Given the description of an element on the screen output the (x, y) to click on. 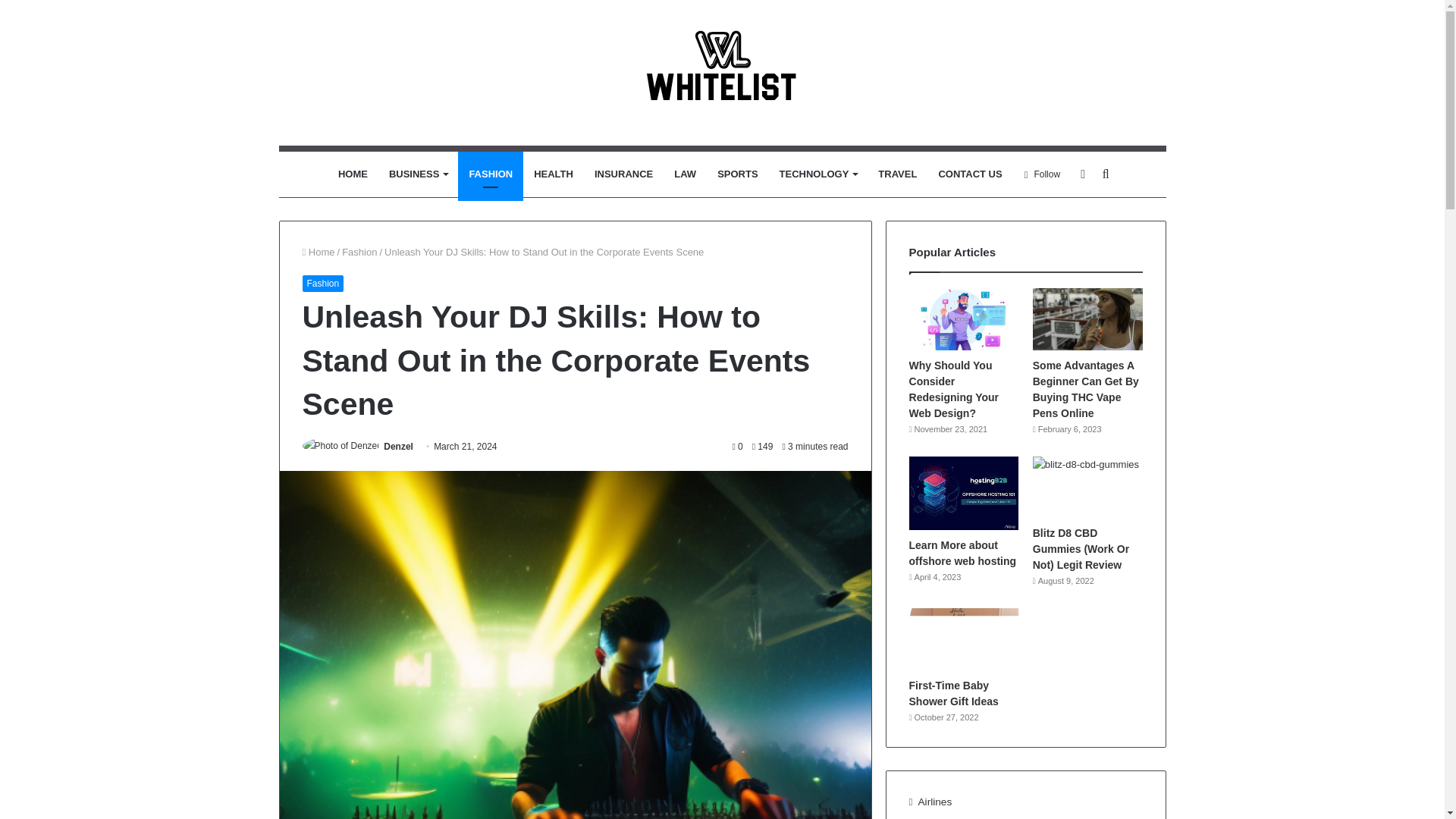
INSURANCE (623, 174)
FASHION (490, 174)
Follow (1042, 174)
TRAVEL (897, 174)
White List (722, 72)
Denzel (398, 446)
CONTACT US (969, 174)
HOME (352, 174)
SPORTS (737, 174)
Fashion (359, 251)
